Given the description of an element on the screen output the (x, y) to click on. 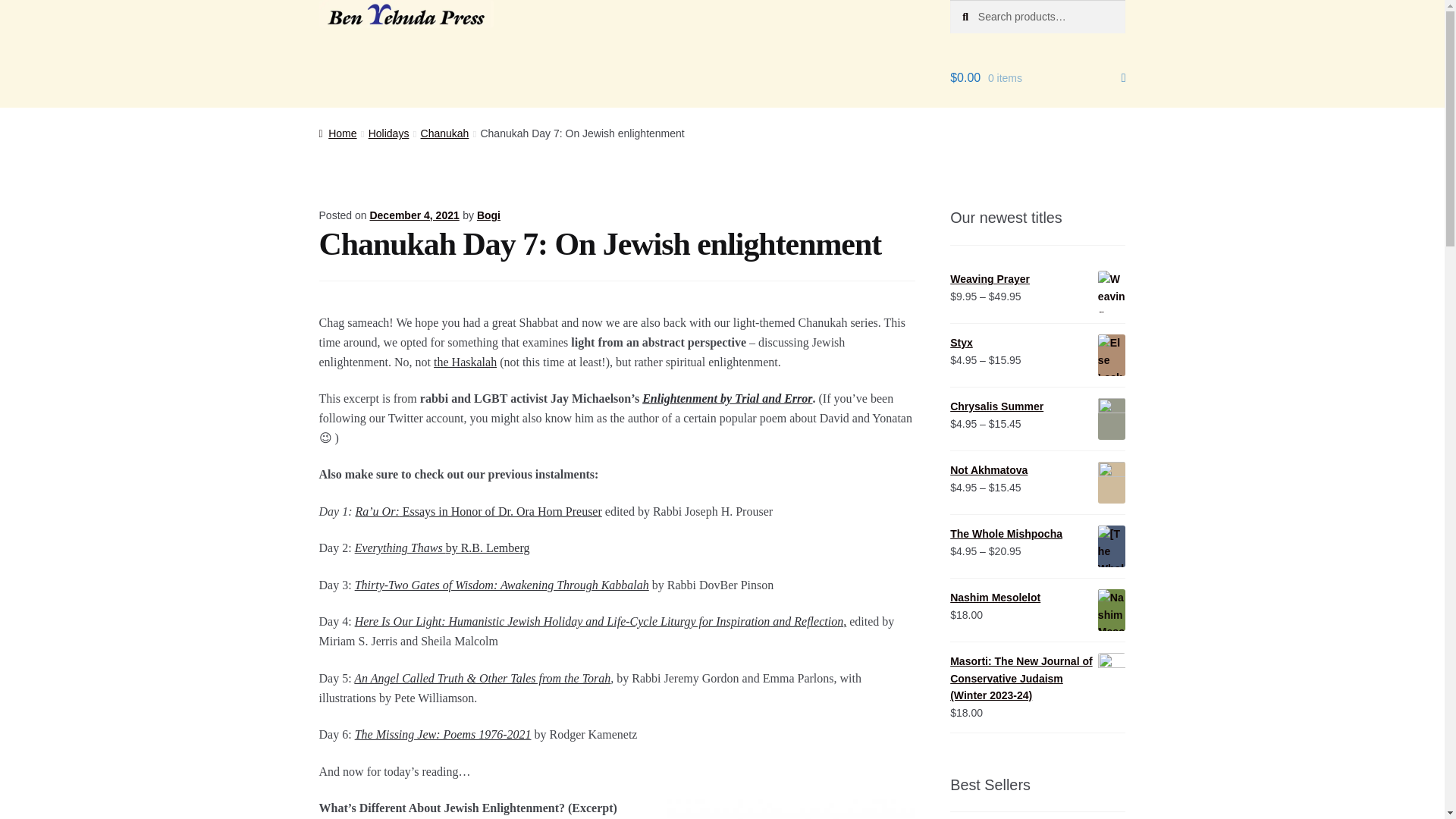
Chanukah (444, 133)
Everything Thaws  (400, 547)
View your shopping cart (1037, 77)
Thirty-Two Gates of Wisdom: Awakening Through Kabbalah (502, 584)
Bogi (488, 215)
Weaving Prayer (1037, 279)
The Missing Jew: Poems 1976-2021 (443, 734)
December 4, 2021 (413, 215)
Chrysalis Summer (1037, 406)
